Given the description of an element on the screen output the (x, y) to click on. 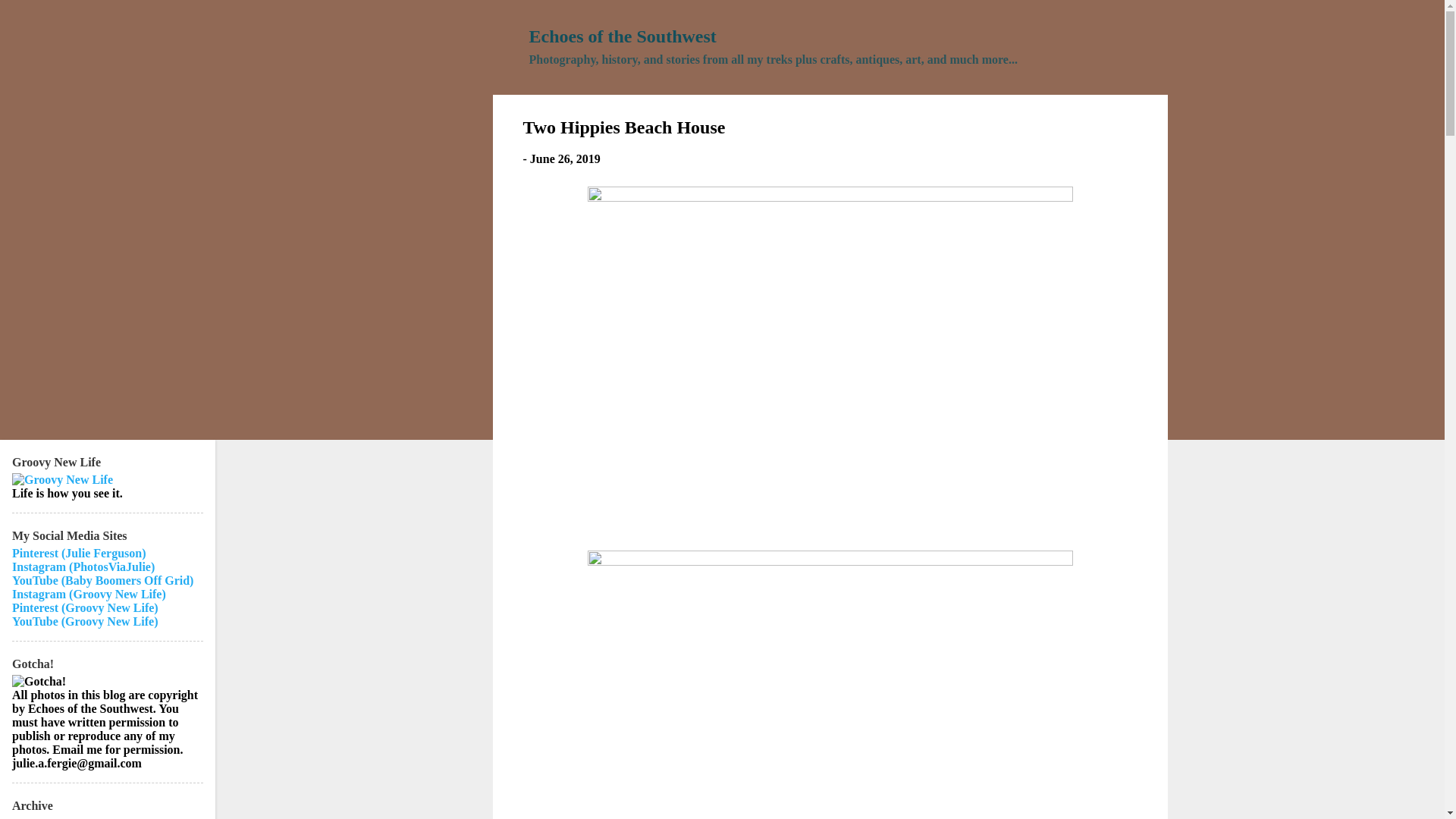
Search (31, 18)
June 26, 2019 (564, 158)
permanent link (564, 158)
Echoes of the Southwest (622, 35)
